Given the description of an element on the screen output the (x, y) to click on. 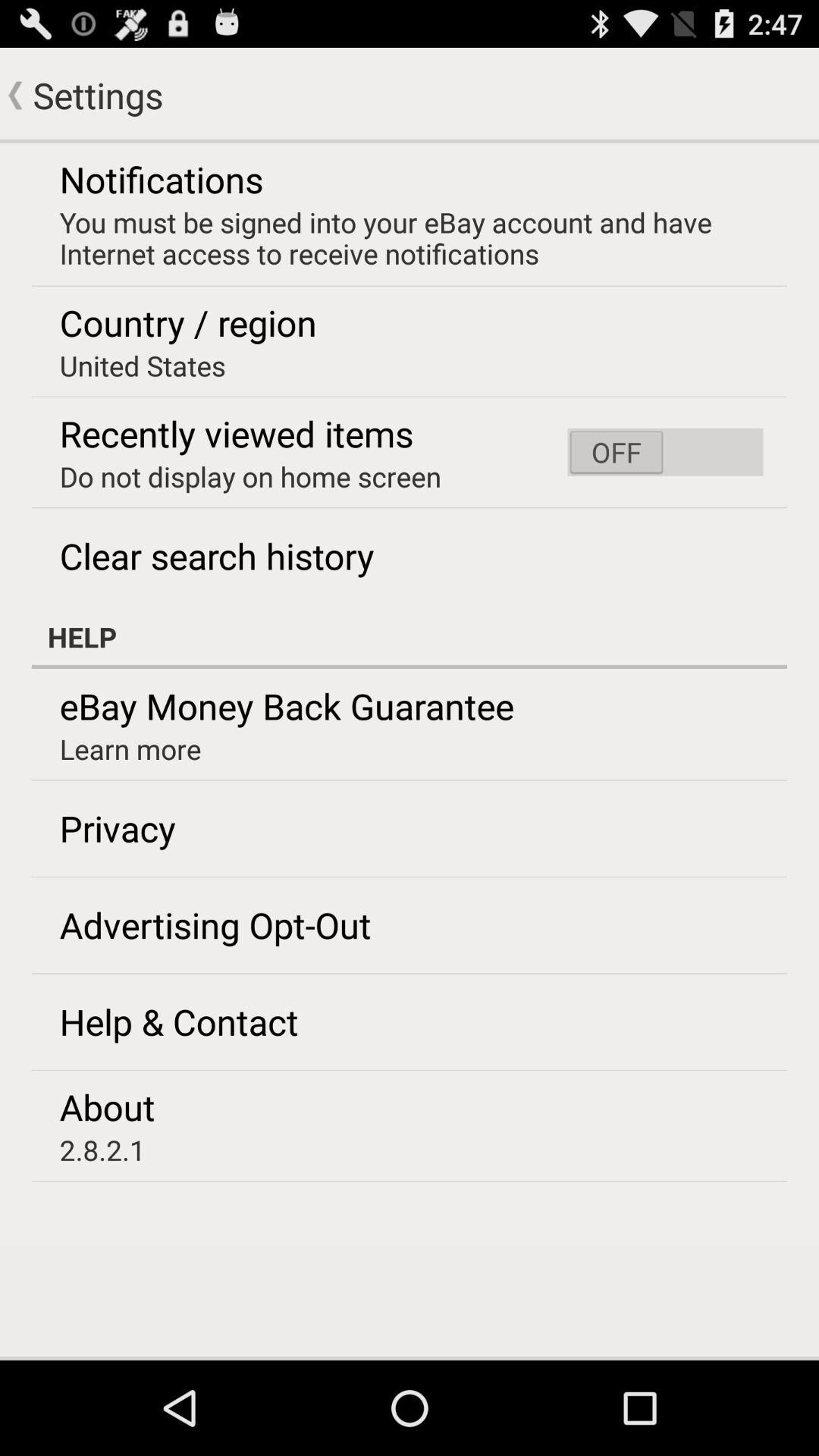
launch the icon next to the do not display (665, 451)
